Given the description of an element on the screen output the (x, y) to click on. 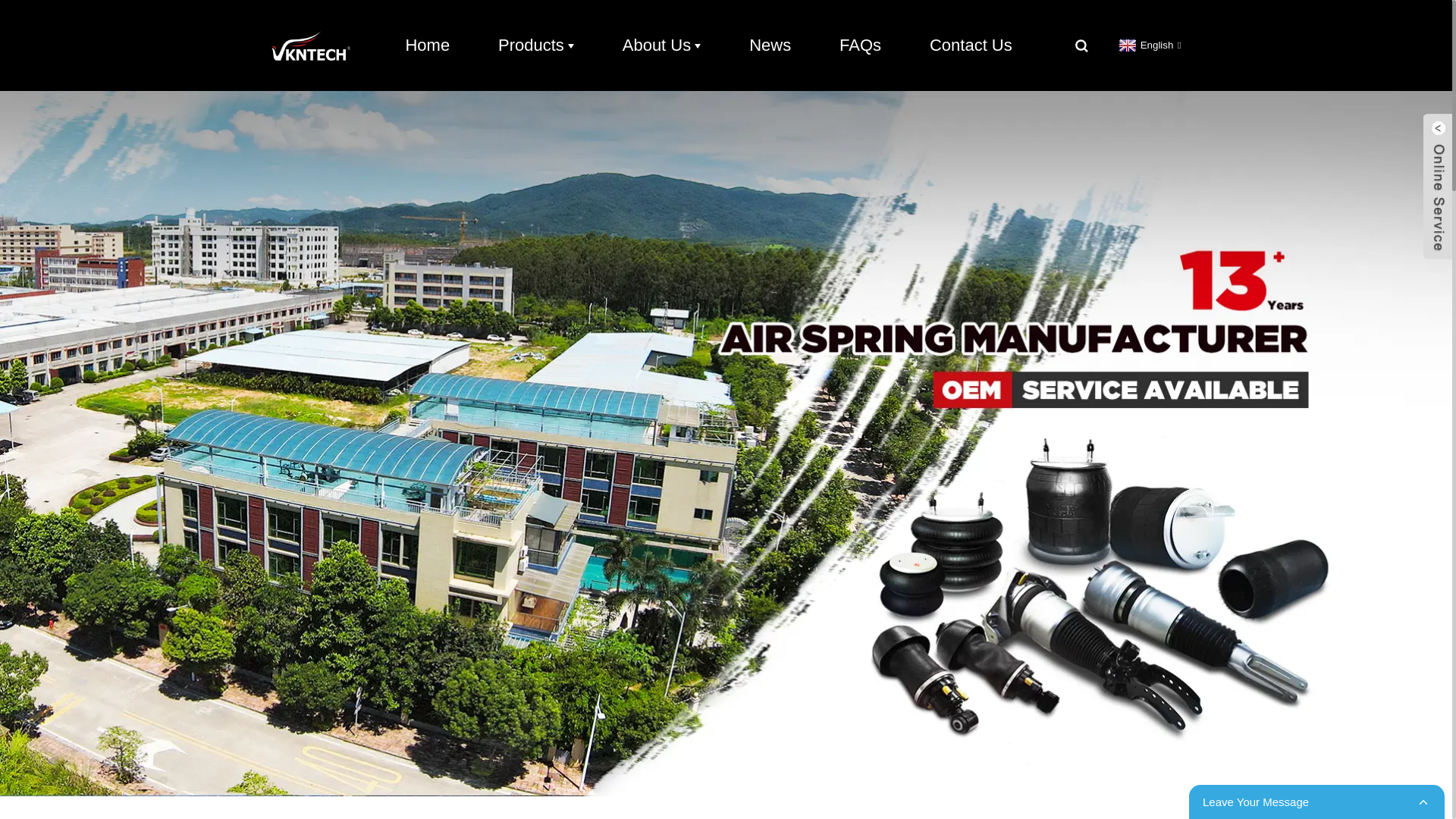
Contact Us (970, 45)
English (1147, 44)
Products (535, 45)
About Us (662, 45)
